Given the description of an element on the screen output the (x, y) to click on. 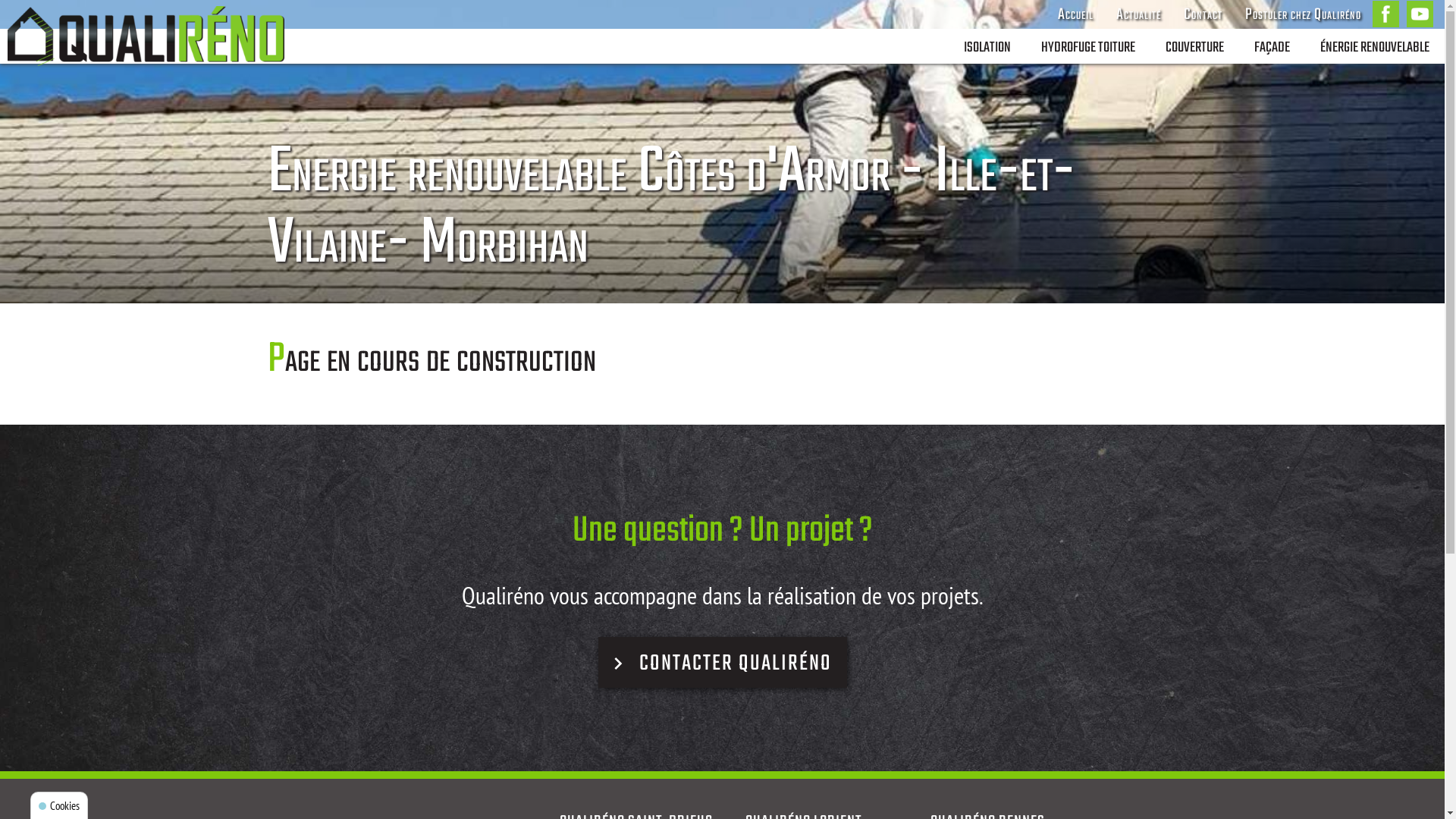
Contact Element type: text (1202, 14)
Accueil Element type: text (1075, 14)
Notre page Youtube Element type: hover (1419, 13)
Notre page Facebook Element type: hover (1385, 13)
